Given the description of an element on the screen output the (x, y) to click on. 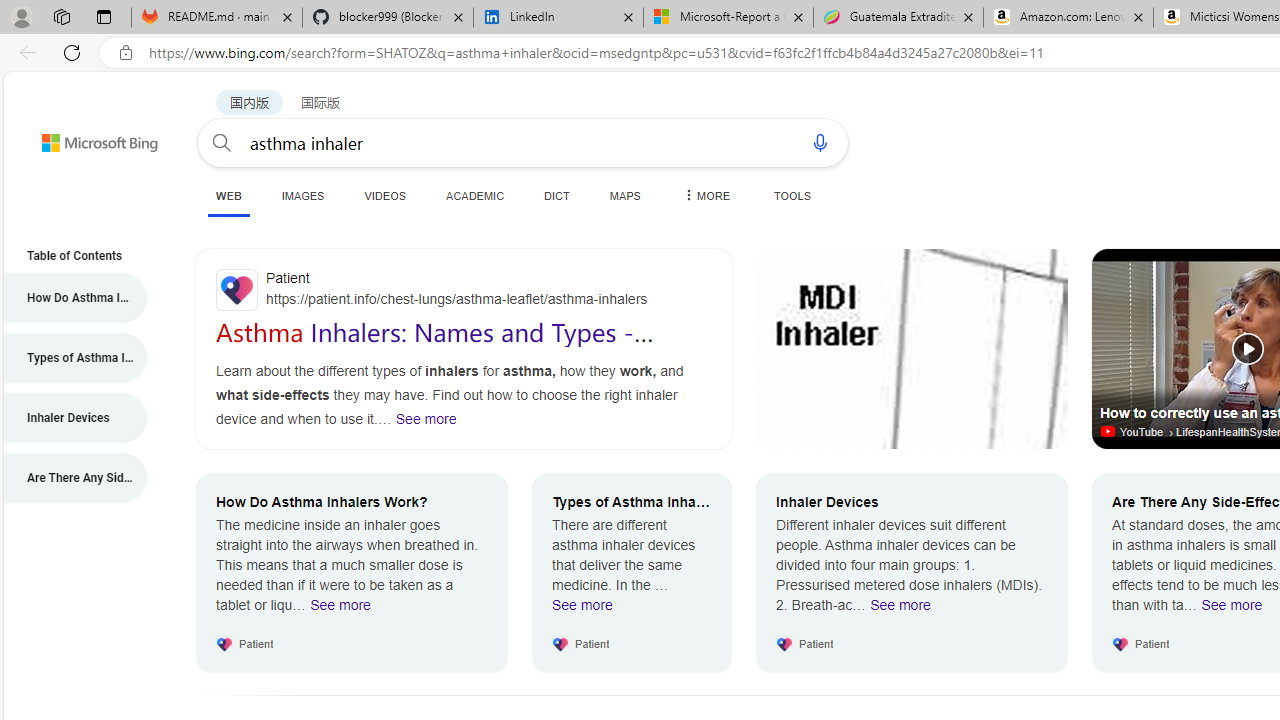
LinkedIn (557, 17)
MAPS (624, 195)
WEB (228, 195)
Dropdown Menu (705, 195)
